Given the description of an element on the screen output the (x, y) to click on. 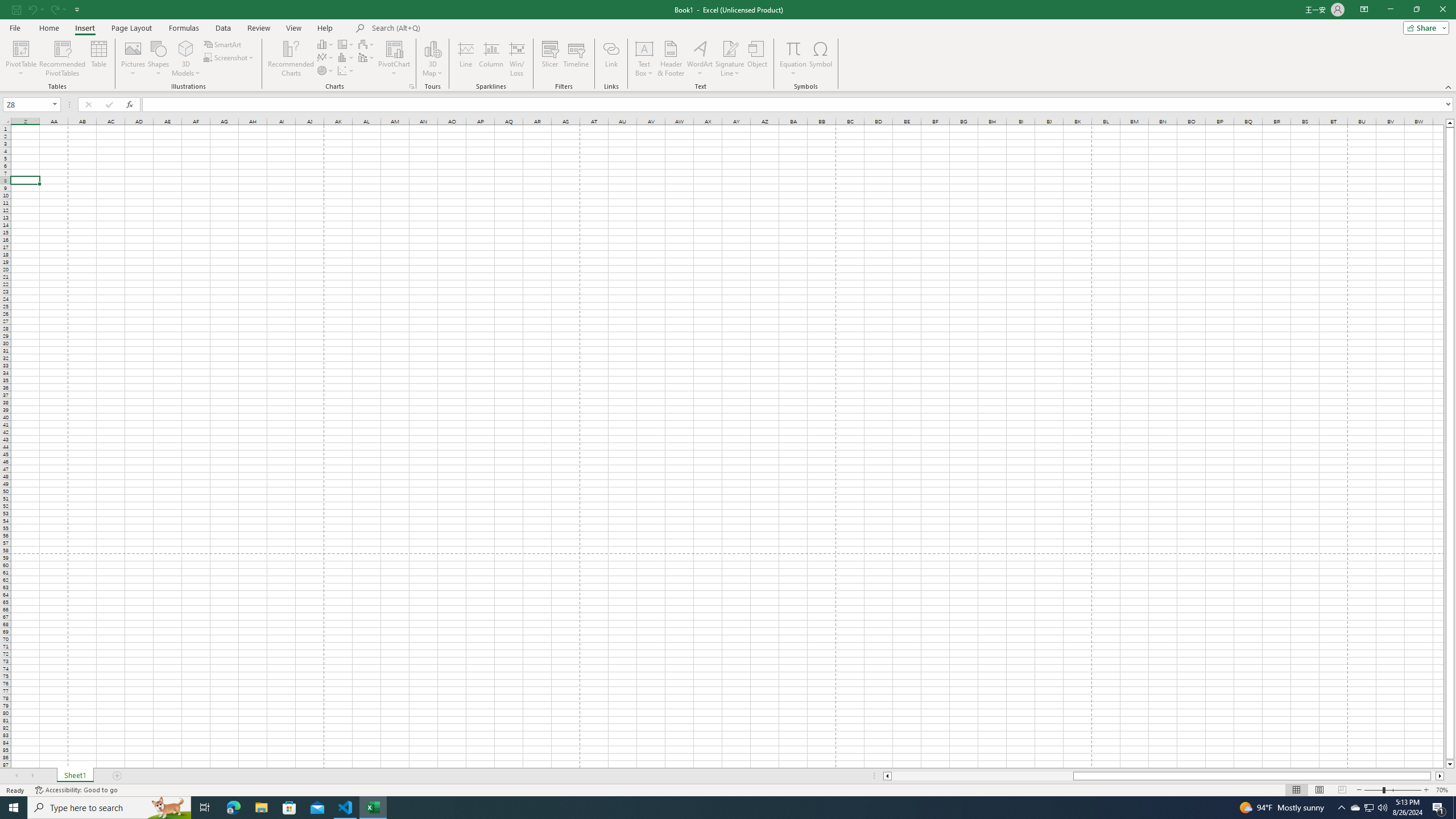
Pictures (133, 58)
Insert Column or Bar Chart (325, 44)
Timeline (575, 58)
Insert Scatter (X, Y) or Bubble Chart (346, 69)
Draw Horizontal Text Box (643, 48)
Shapes (158, 58)
